Given the description of an element on the screen output the (x, y) to click on. 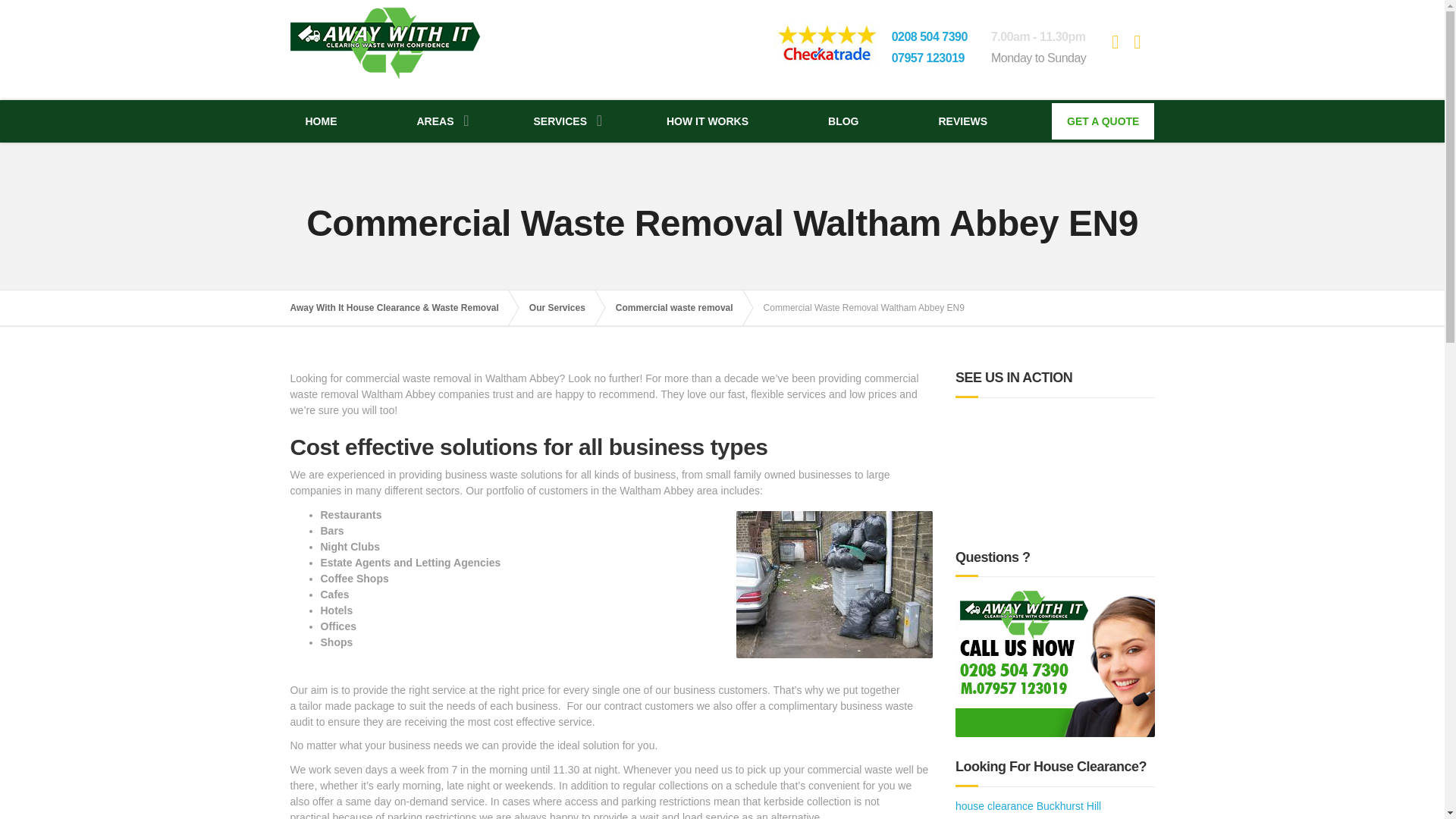
Commercial Waste Removal in Waltham Abbey EN9 (834, 584)
Go to Our Services. (564, 307)
07957 123019 (927, 57)
0208 504 7390 (929, 36)
Our Services (564, 307)
HOME (320, 121)
BLOG (842, 121)
SERVICES (560, 121)
Go to Commercial waste removal. (681, 307)
Questions ? (1054, 662)
REVIEWS (963, 121)
HOW IT WORKS (706, 121)
AREAS (434, 121)
GET A QUOTE (1102, 121)
